Given the description of an element on the screen output the (x, y) to click on. 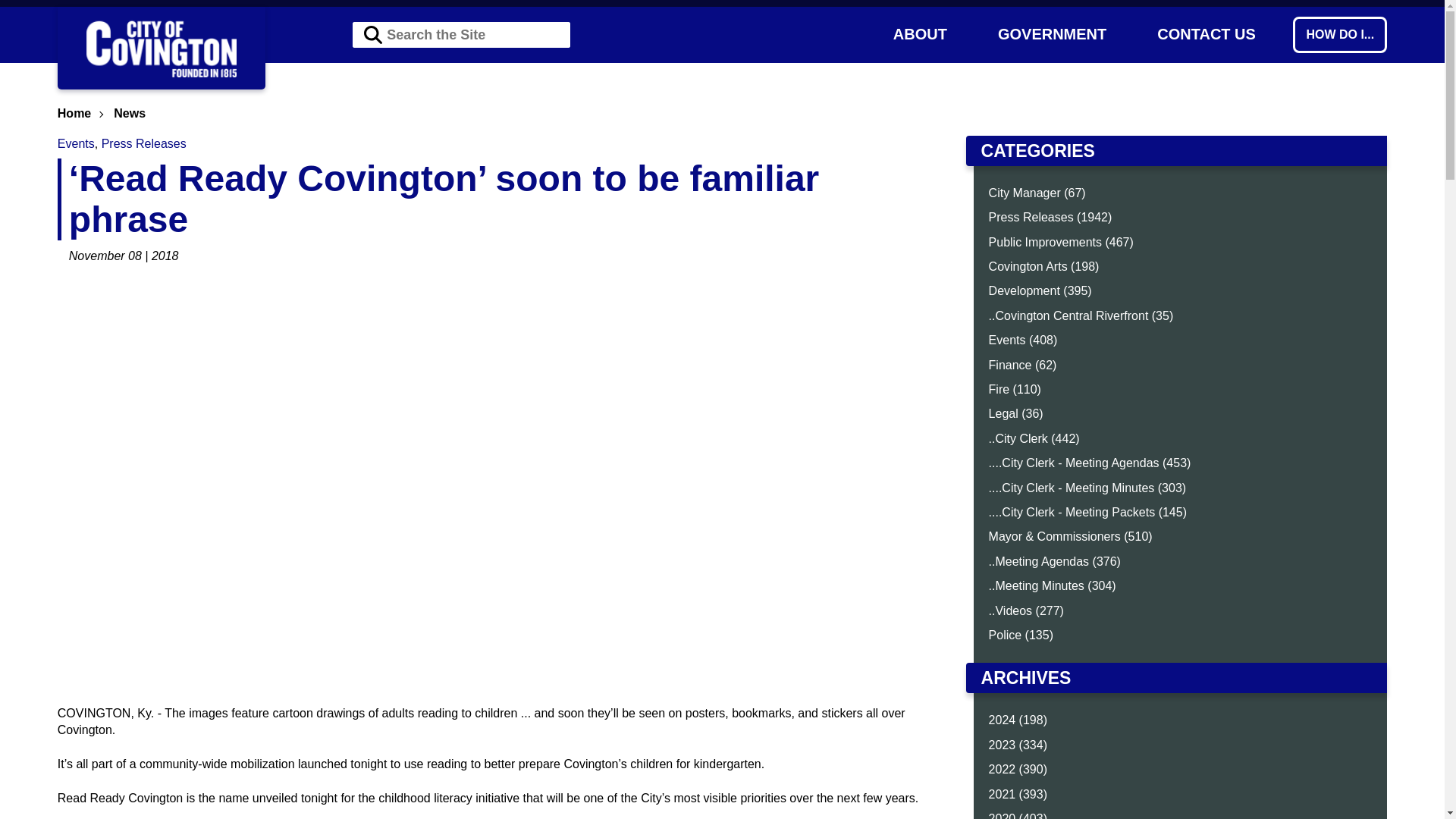
Home (74, 113)
GOVERNMENT (1051, 33)
CONTACT US (1206, 33)
Events (76, 143)
Press Releases (143, 143)
HOW DO I... (1339, 34)
News (129, 113)
ABOUT (919, 33)
search input (461, 34)
